Given the description of an element on the screen output the (x, y) to click on. 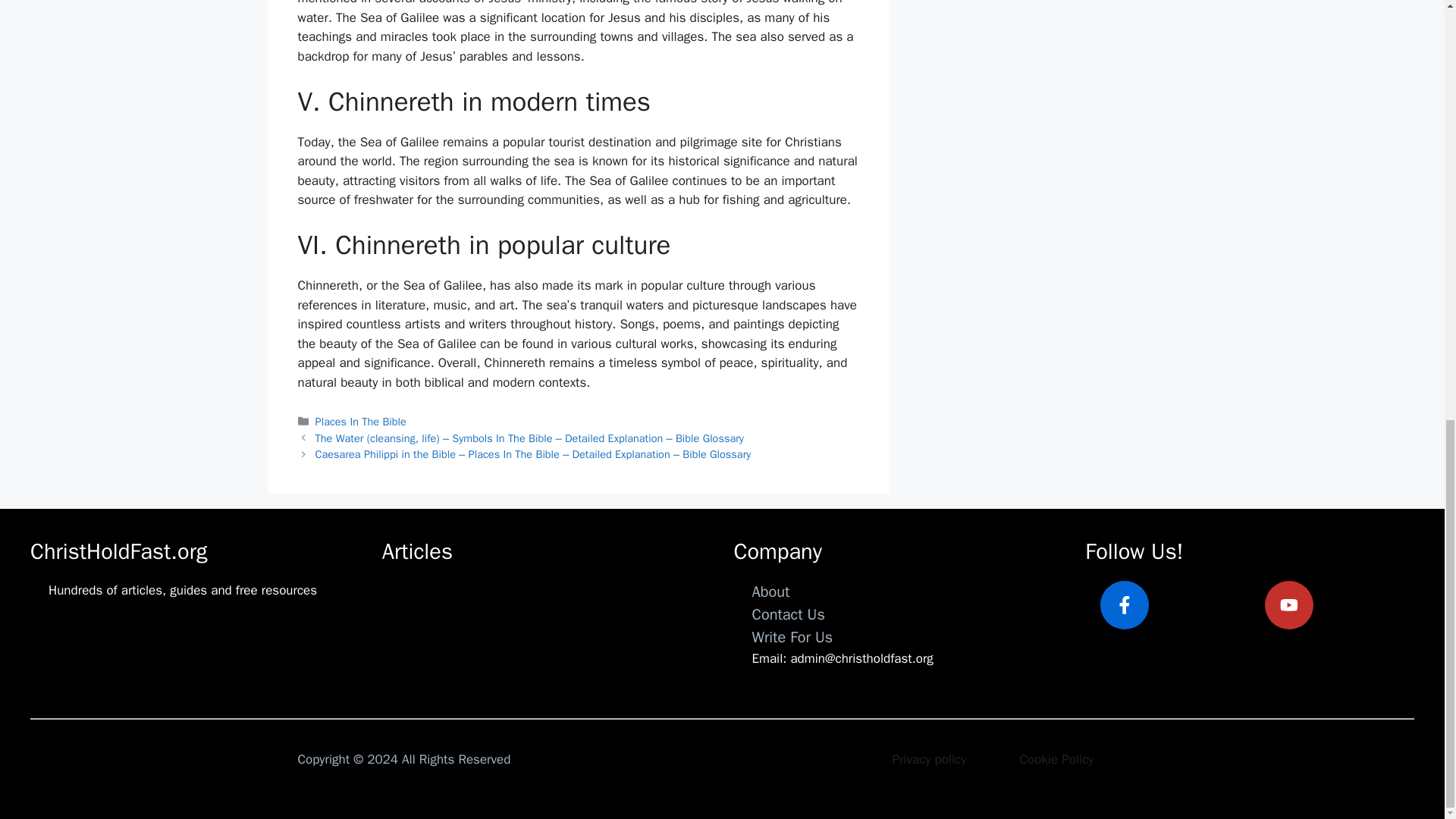
ChristHoldFast.org (118, 551)
Places In The Bible (360, 421)
Write For Us (792, 637)
About (771, 591)
Contact Us (788, 614)
